Given the description of an element on the screen output the (x, y) to click on. 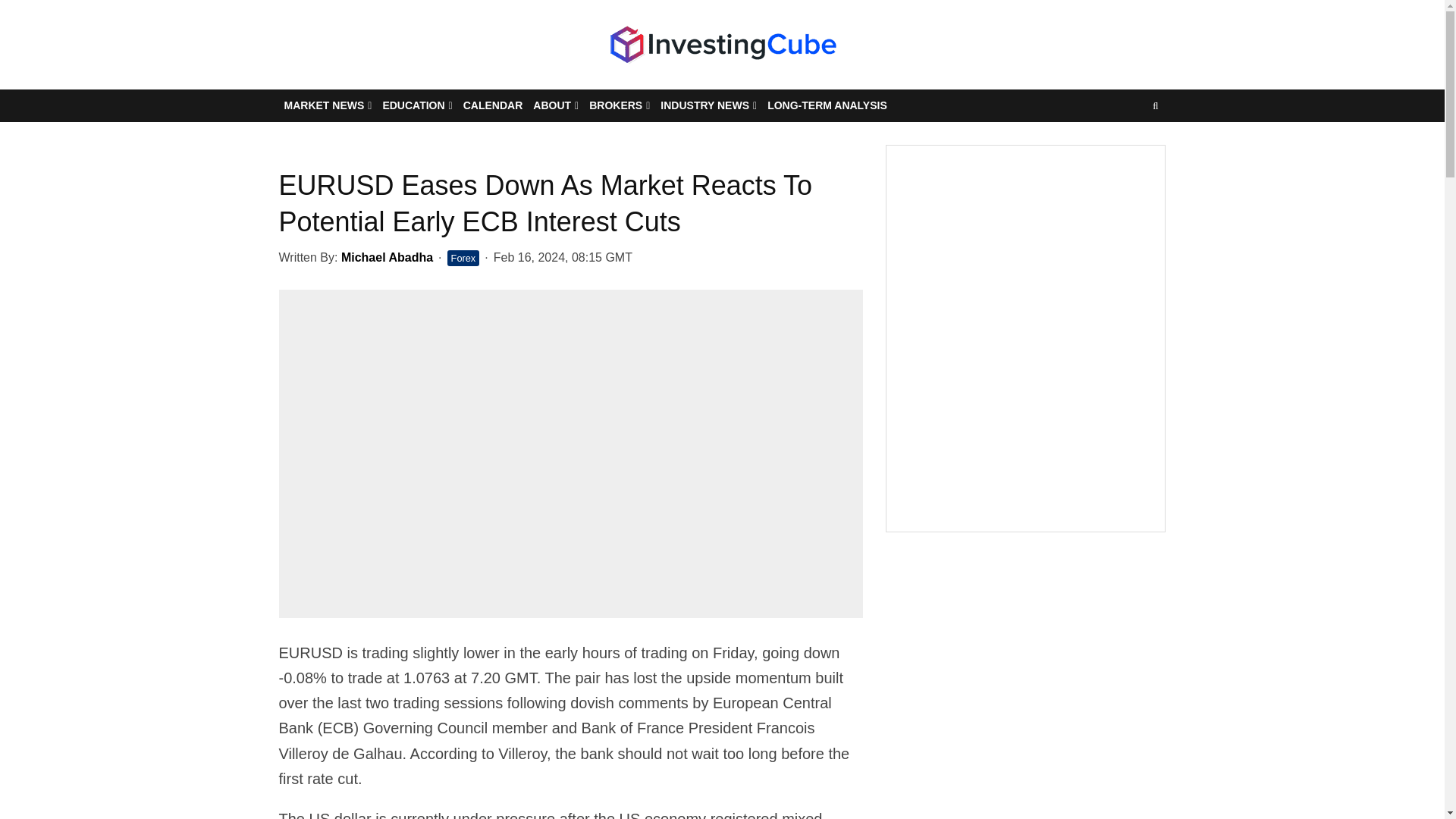
MARKET NEWS (328, 105)
CALENDAR (493, 105)
Michael Abadha (386, 256)
BROKERS (619, 105)
EDUCATION (417, 105)
LONG-TERM ANALYSIS (826, 105)
INDUSTRY NEWS (708, 105)
ABOUT (555, 105)
